Given the description of an element on the screen output the (x, y) to click on. 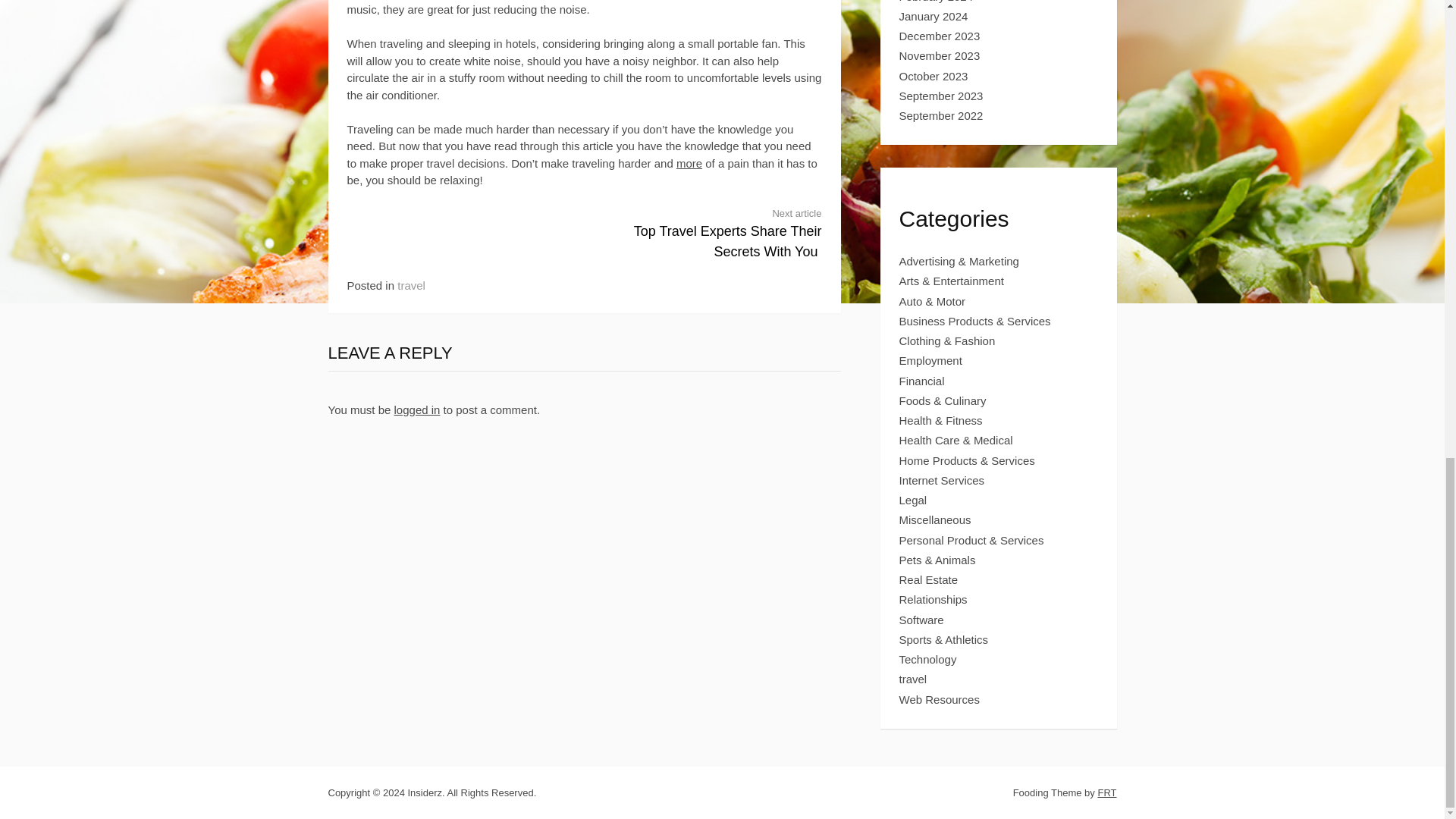
January 2024 (933, 15)
Employment (930, 359)
Financial (921, 380)
November 2023 (939, 55)
February 2024 (936, 1)
September 2022 (941, 115)
September 2023 (941, 95)
October 2023 (933, 75)
travel (411, 285)
December 2023 (939, 35)
